Given the description of an element on the screen output the (x, y) to click on. 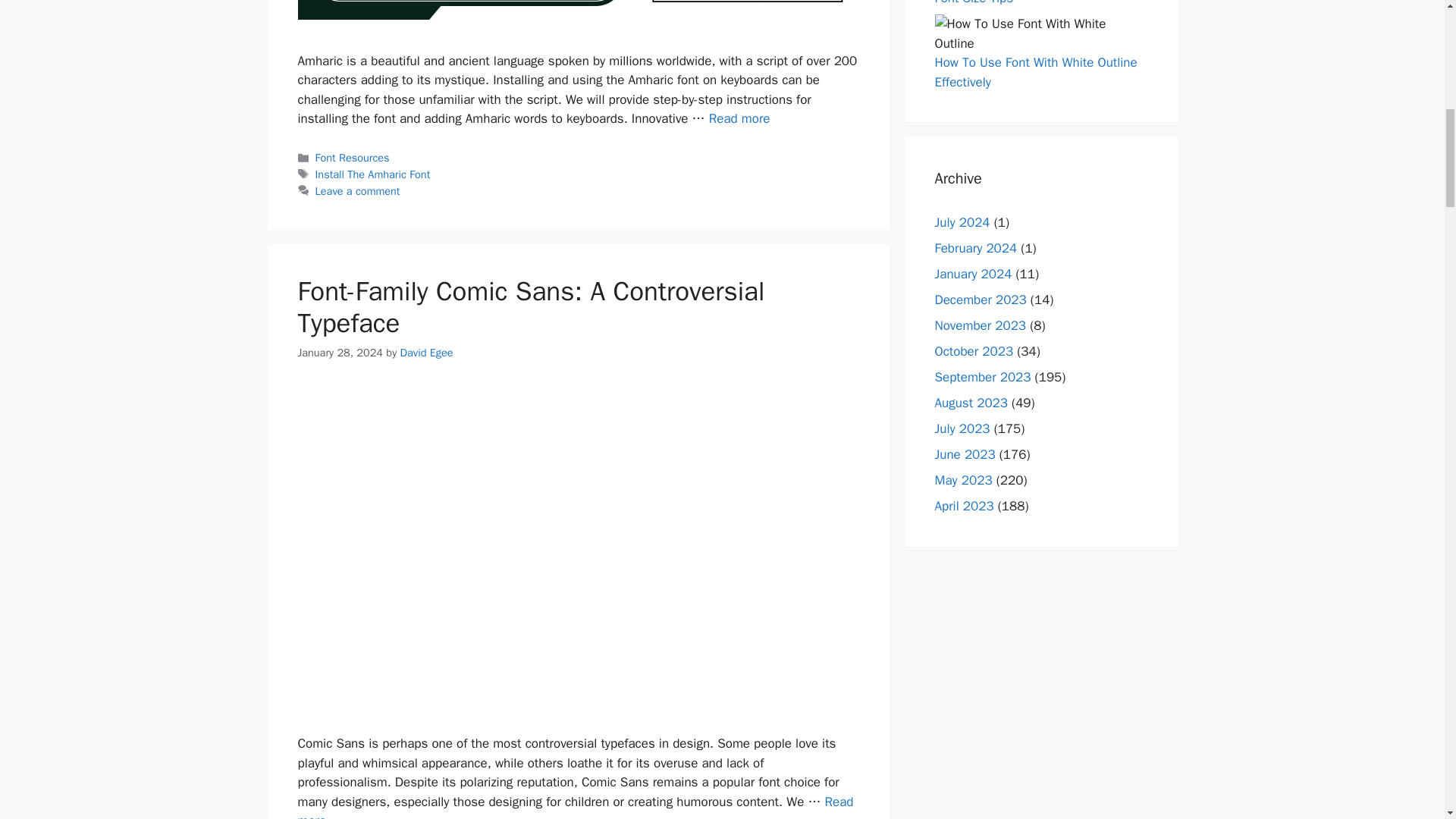
Read more (739, 118)
Font-Family Comic Sans: A Controversial Typeface (575, 806)
Read more (575, 806)
Font-Family Comic Sans: A Controversial Typeface (530, 306)
Install The Amharic Font (372, 173)
Font Resources (352, 157)
How To Install The Amharic Font (739, 118)
David Egee (426, 352)
View all posts by David Egee (426, 352)
Leave a comment (357, 191)
